Given the description of an element on the screen output the (x, y) to click on. 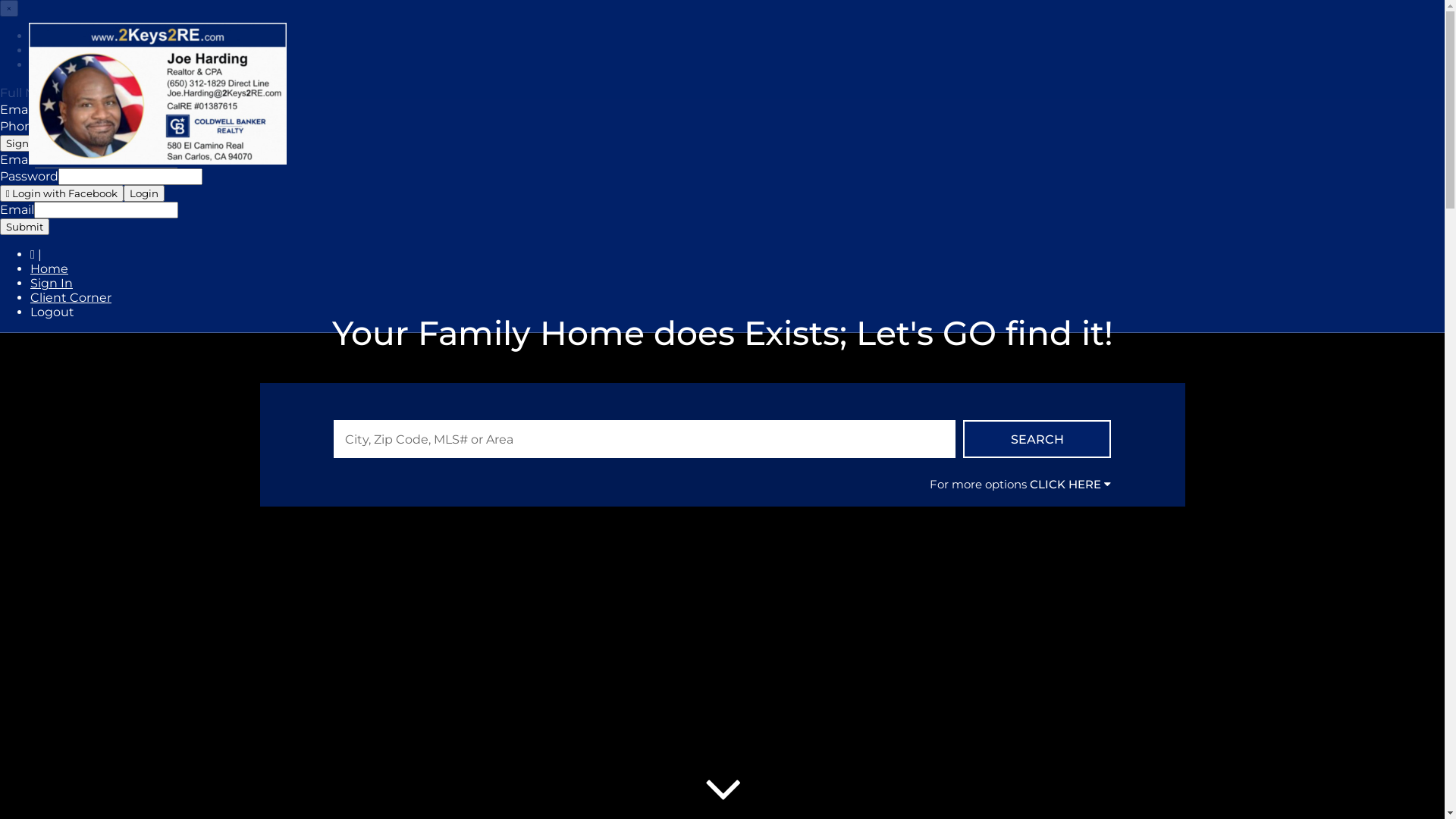
Submit Element type: text (24, 226)
Login Element type: text (47, 50)
Client Corner Element type: text (70, 297)
Login with Facebook Element type: text (61, 193)
Sign In Element type: text (51, 283)
Login Element type: text (143, 193)
Forgot password Element type: text (81, 64)
Sign Up Element type: text (26, 142)
Logout Element type: text (52, 311)
Register Element type: text (55, 35)
Home Element type: text (49, 268)
SEARCH Element type: text (1036, 439)
